Given the description of an element on the screen output the (x, y) to click on. 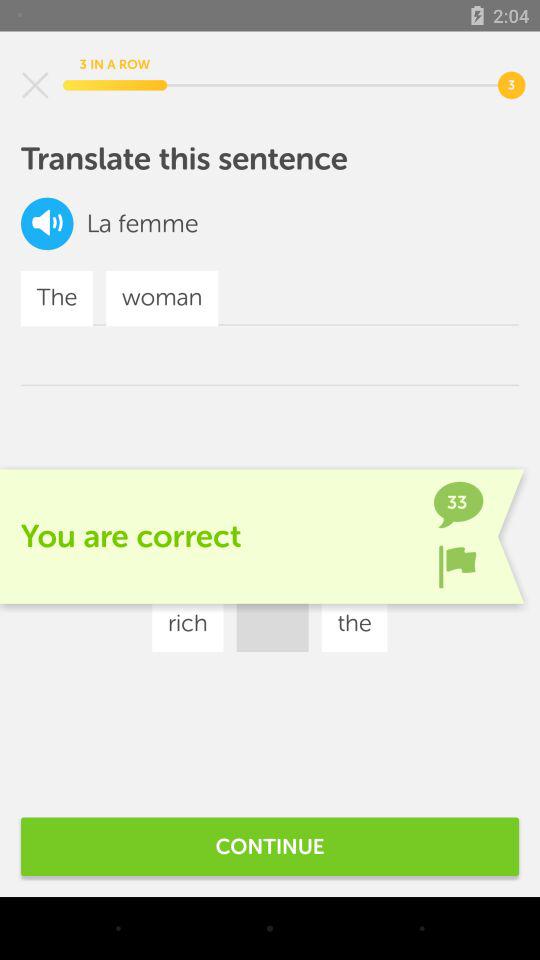
open icon to the right of the woman (293, 563)
